Given the description of an element on the screen output the (x, y) to click on. 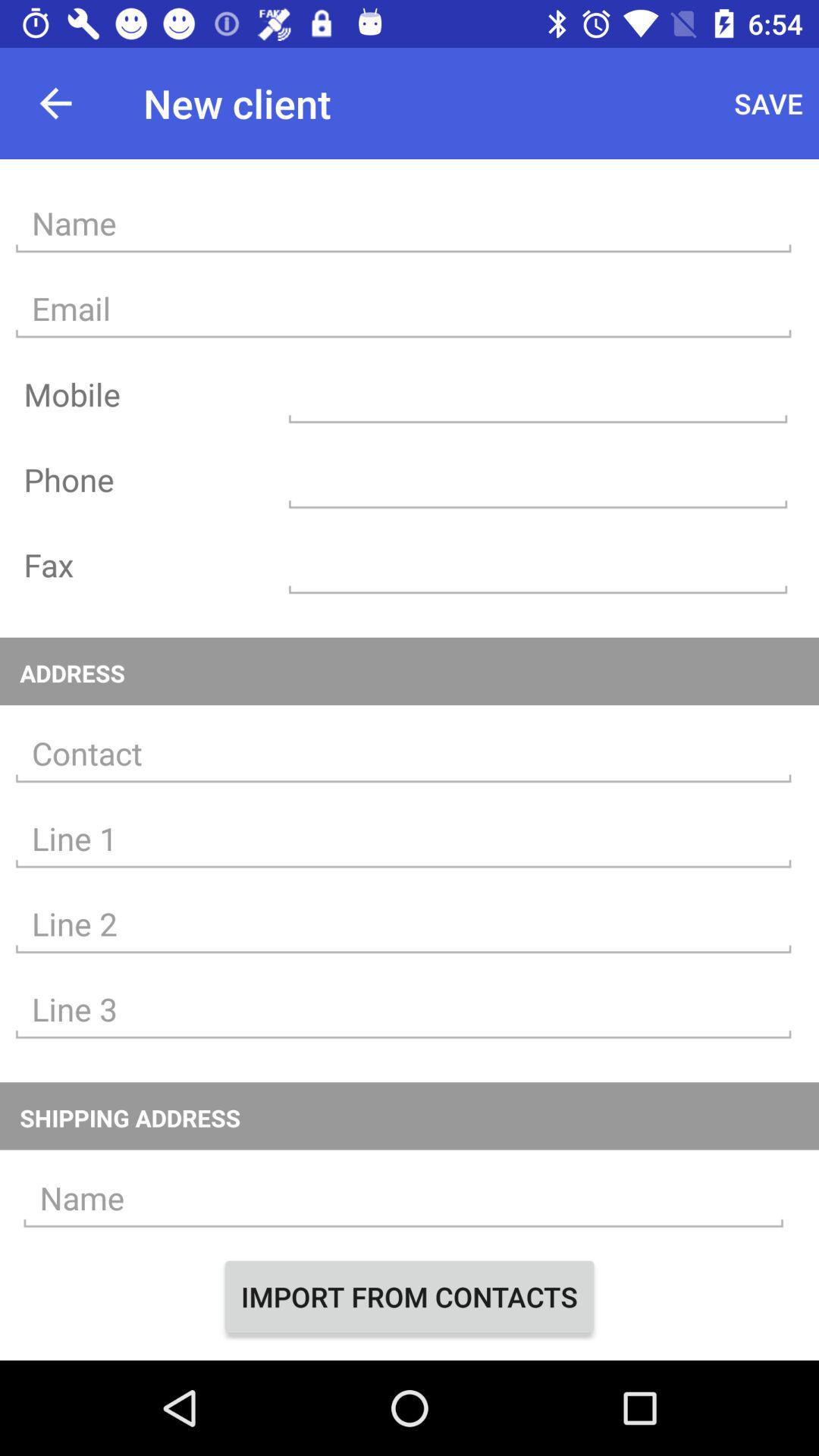
type the name (403, 1198)
